Given the description of an element on the screen output the (x, y) to click on. 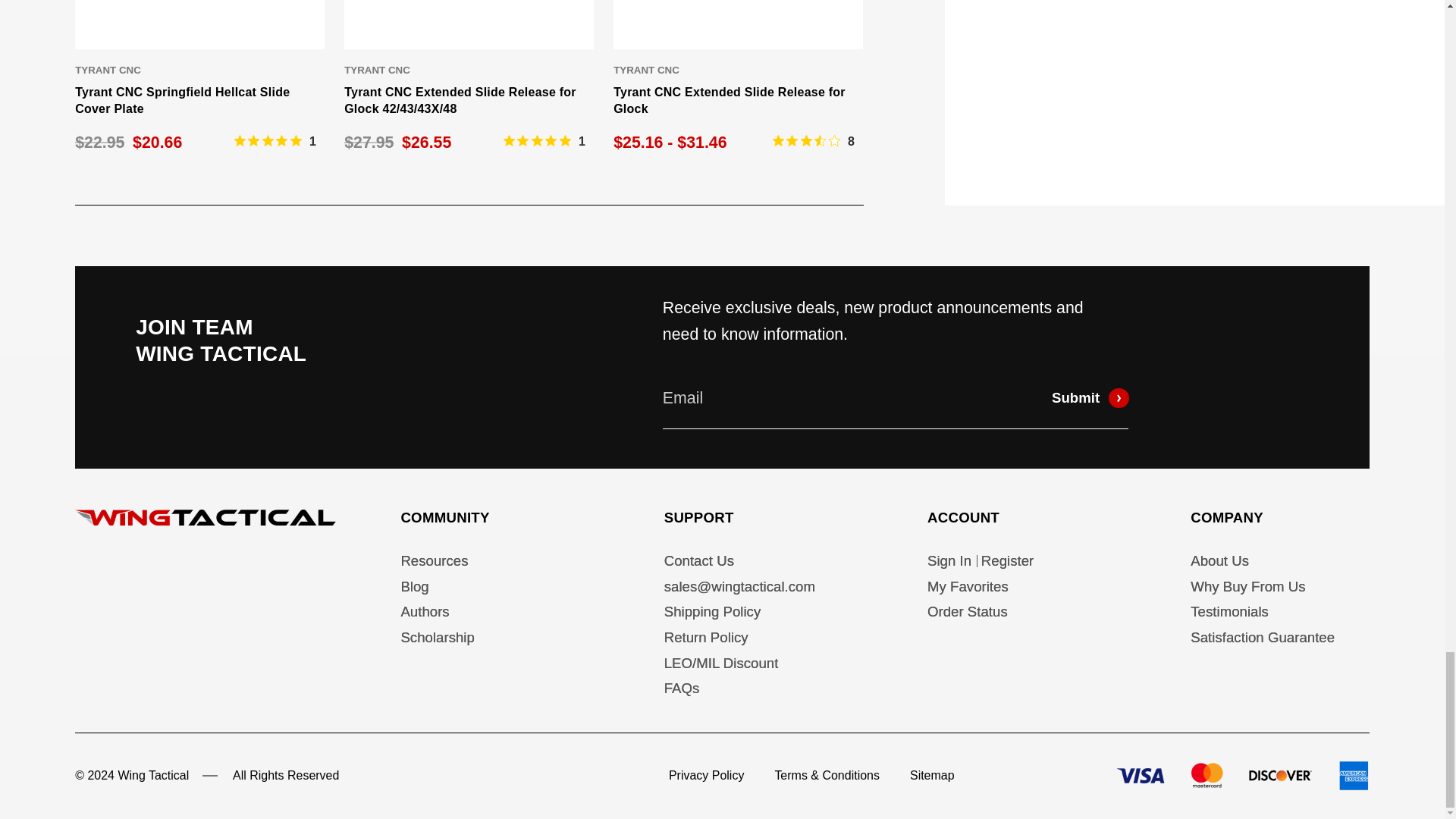
8 (813, 141)
1 (544, 141)
1 (274, 141)
